Given the description of an element on the screen output the (x, y) to click on. 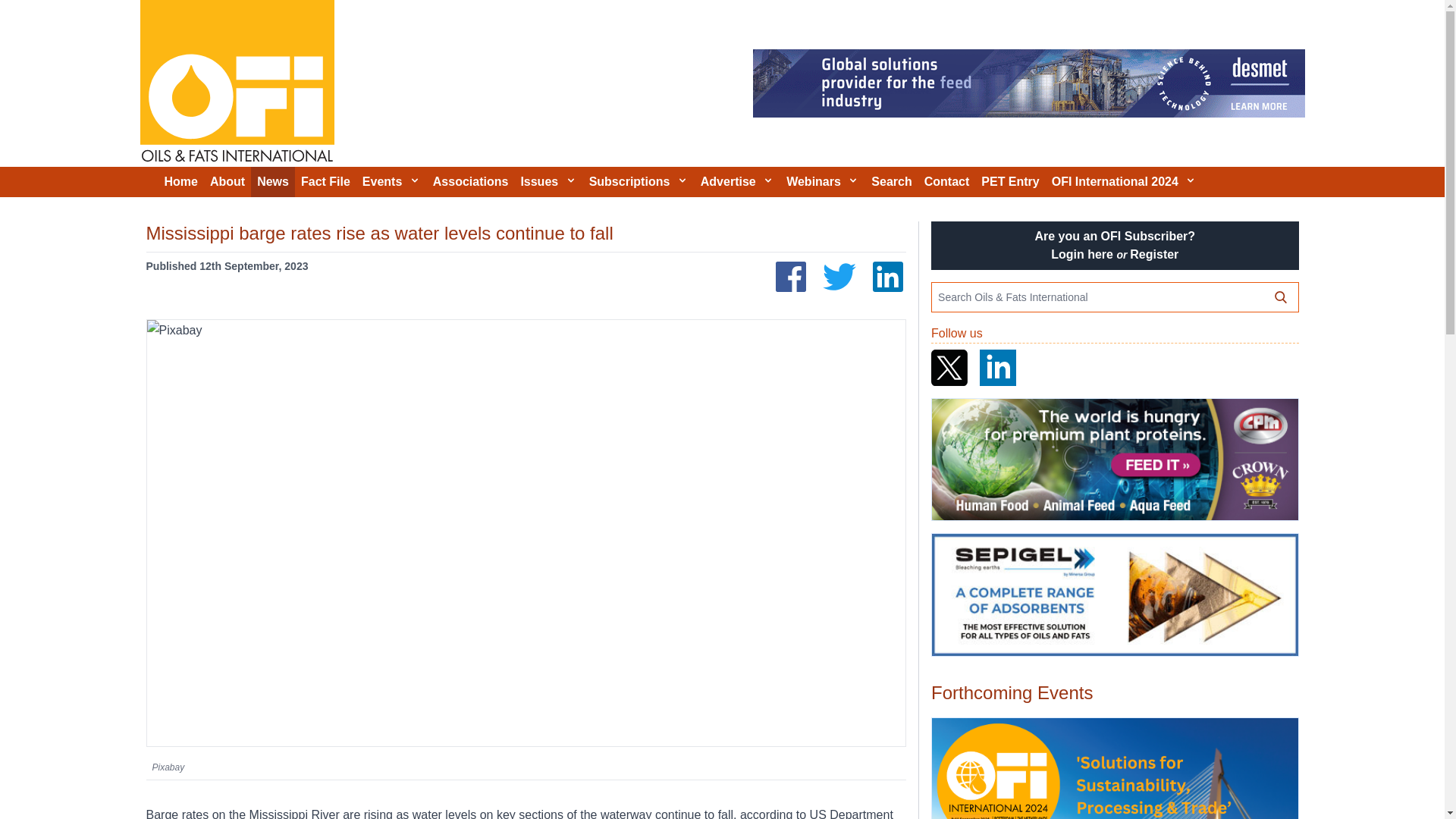
Sepigel 2024 (1114, 594)
Advertise (737, 182)
Associations (470, 182)
Share on LinkedIn (887, 276)
Contact (946, 182)
OFI International 2024 (1124, 182)
Share on Facebook (791, 276)
Events (391, 182)
Crown AUG 24 - Plant proteins - feed it (1114, 459)
About (226, 182)
Search (890, 182)
Issues (547, 182)
Fact File (325, 182)
PET Entry (1010, 182)
Share on Twitter (839, 276)
